Given the description of an element on the screen output the (x, y) to click on. 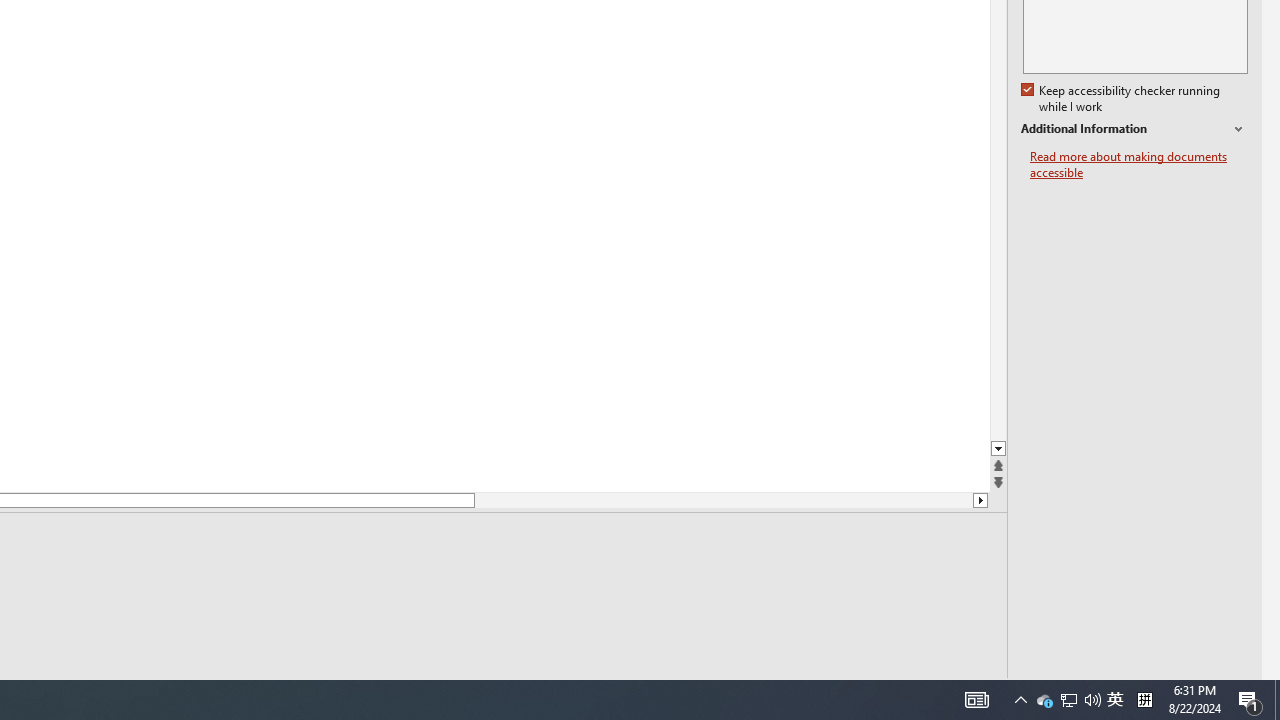
Slide Show Next On (924, 691)
Slide Show Previous On (860, 691)
Menu On (892, 691)
